Given the description of an element on the screen output the (x, y) to click on. 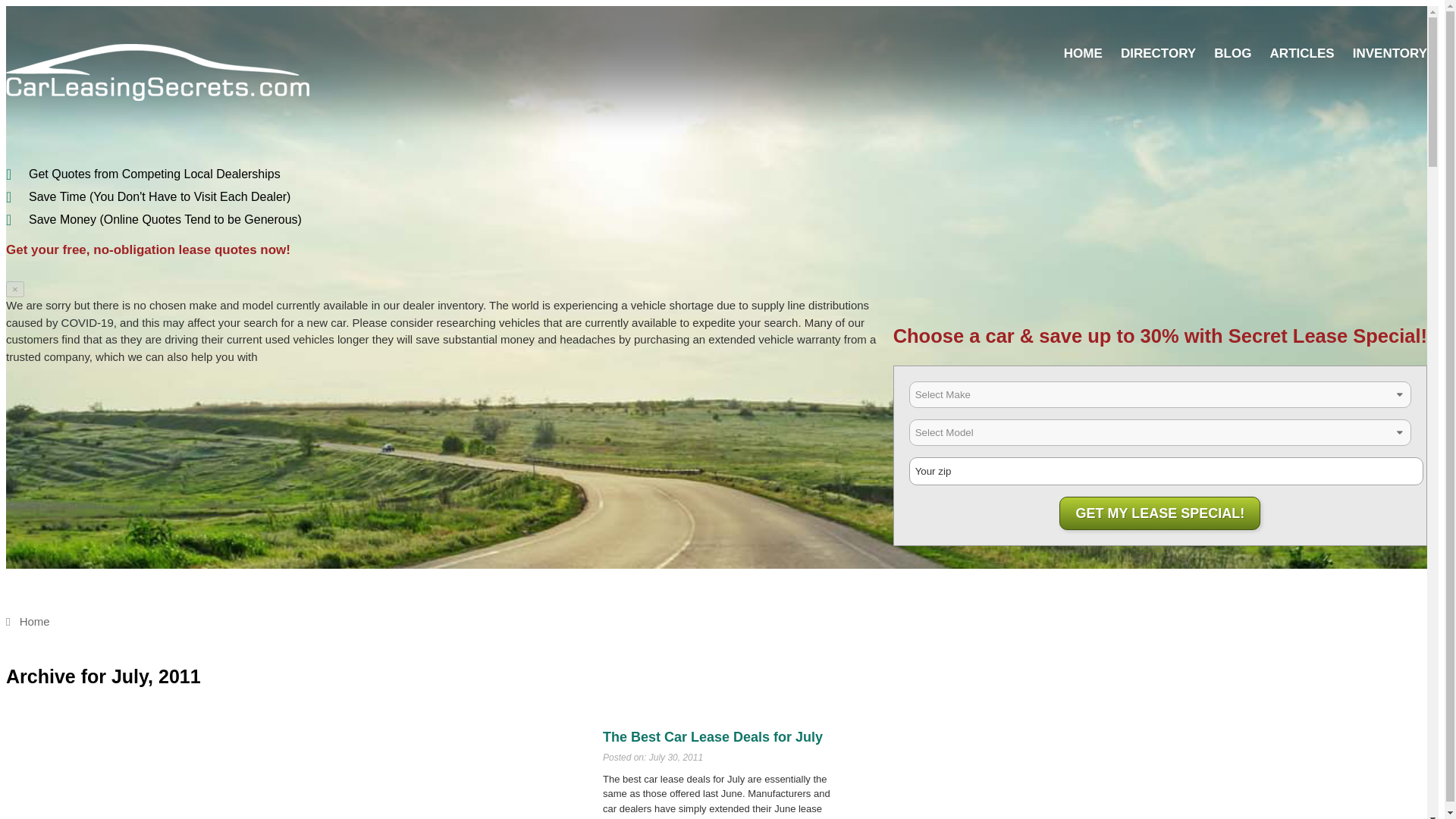
Home (27, 621)
HOME (1083, 52)
Get My Lease Special! (1159, 512)
The Best Car Lease Deals for July (712, 736)
Get your free, no-obligation lease quotes now! (147, 249)
BLOG (1232, 52)
DIRECTORY (1158, 52)
ARTICLES (1302, 52)
Permanent Link to The Best Car Lease Deals for July (712, 736)
Get My Lease Special! (1159, 512)
